Given the description of an element on the screen output the (x, y) to click on. 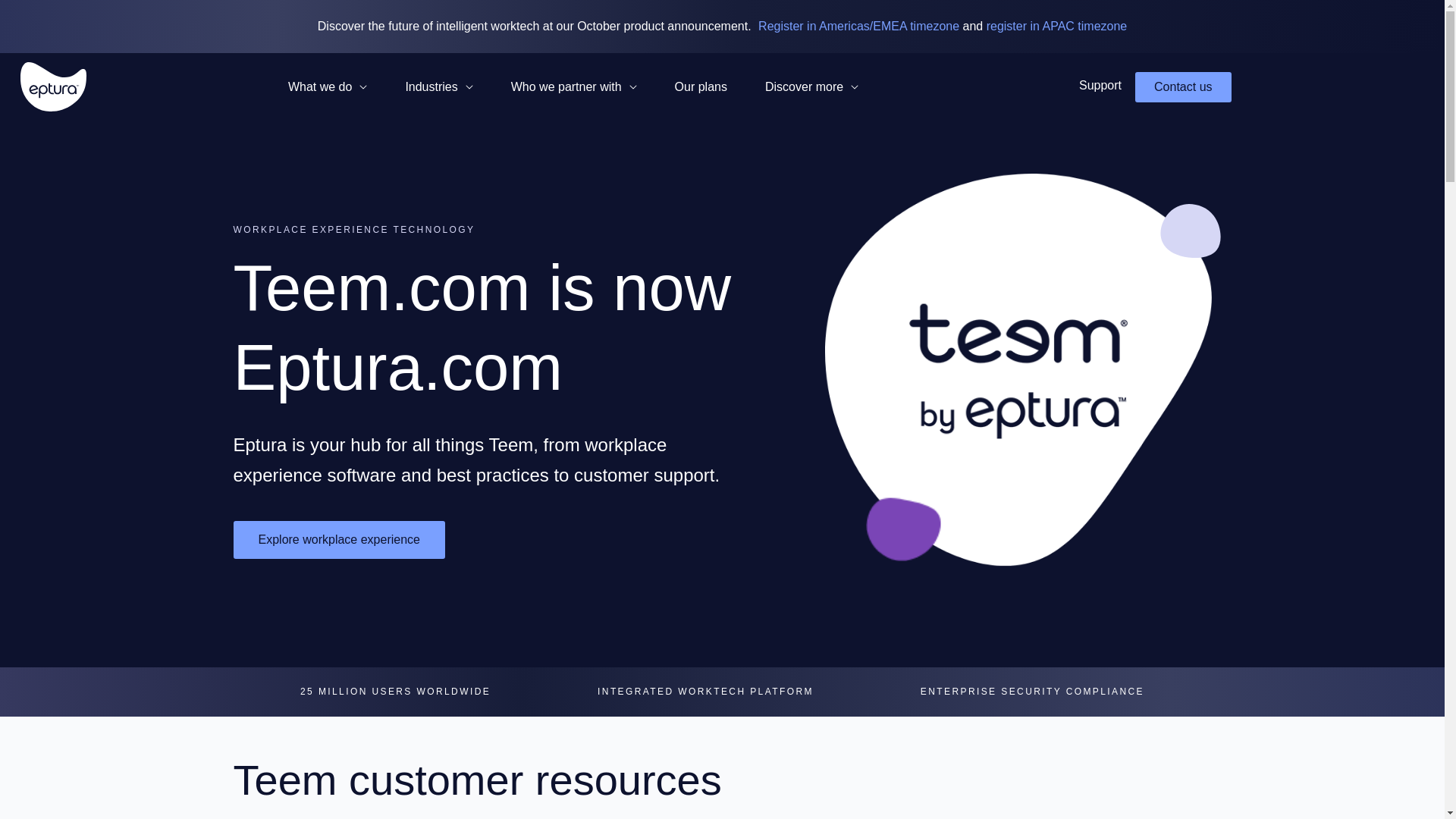
What we do (327, 87)
Discover more (812, 87)
Who we partner with (574, 87)
register in APAC timezone (1056, 26)
Our plans (700, 87)
Industries (437, 87)
